Given the description of an element on the screen output the (x, y) to click on. 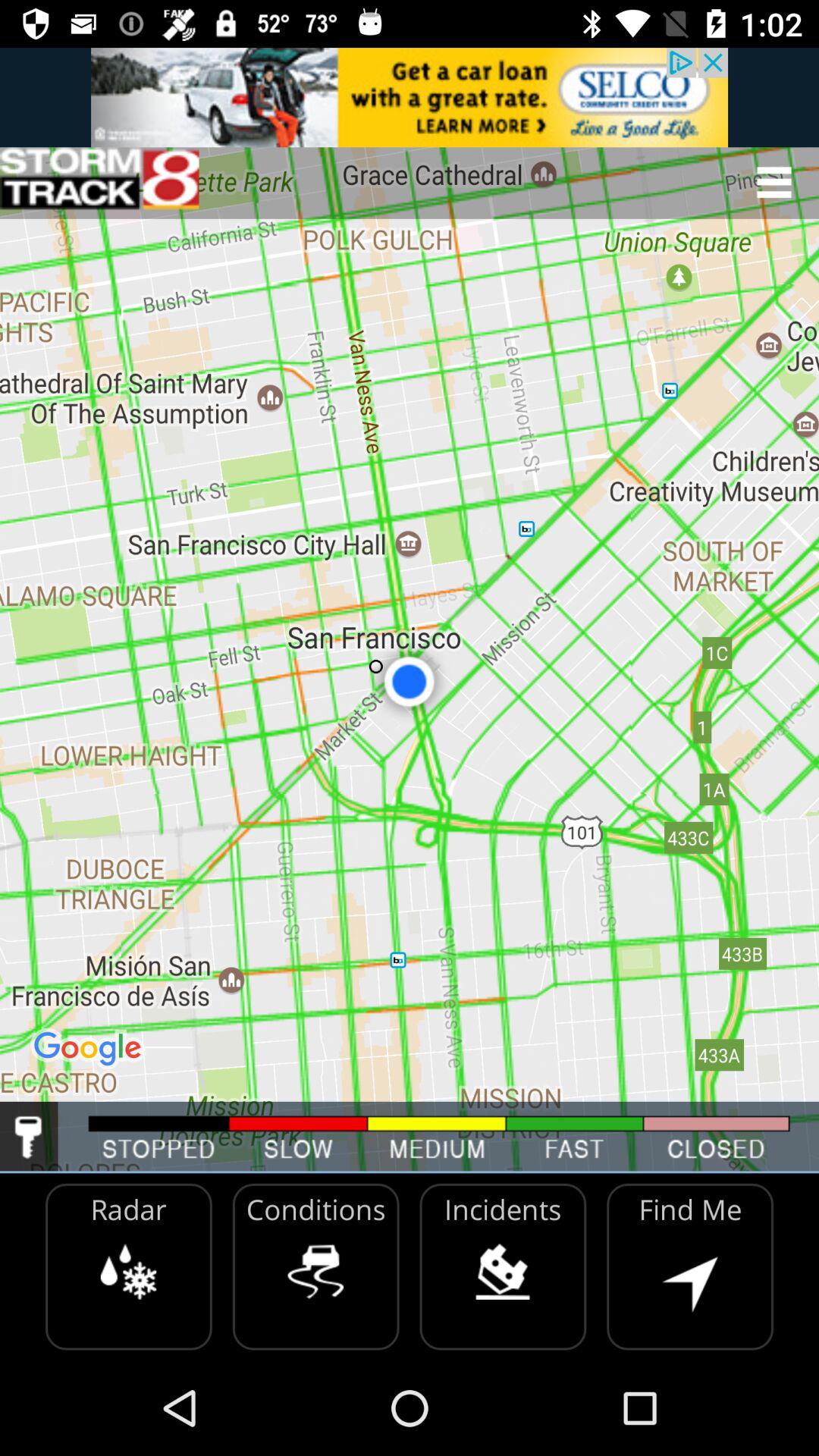
advertisement foer car loans (409, 97)
